Given the description of an element on the screen output the (x, y) to click on. 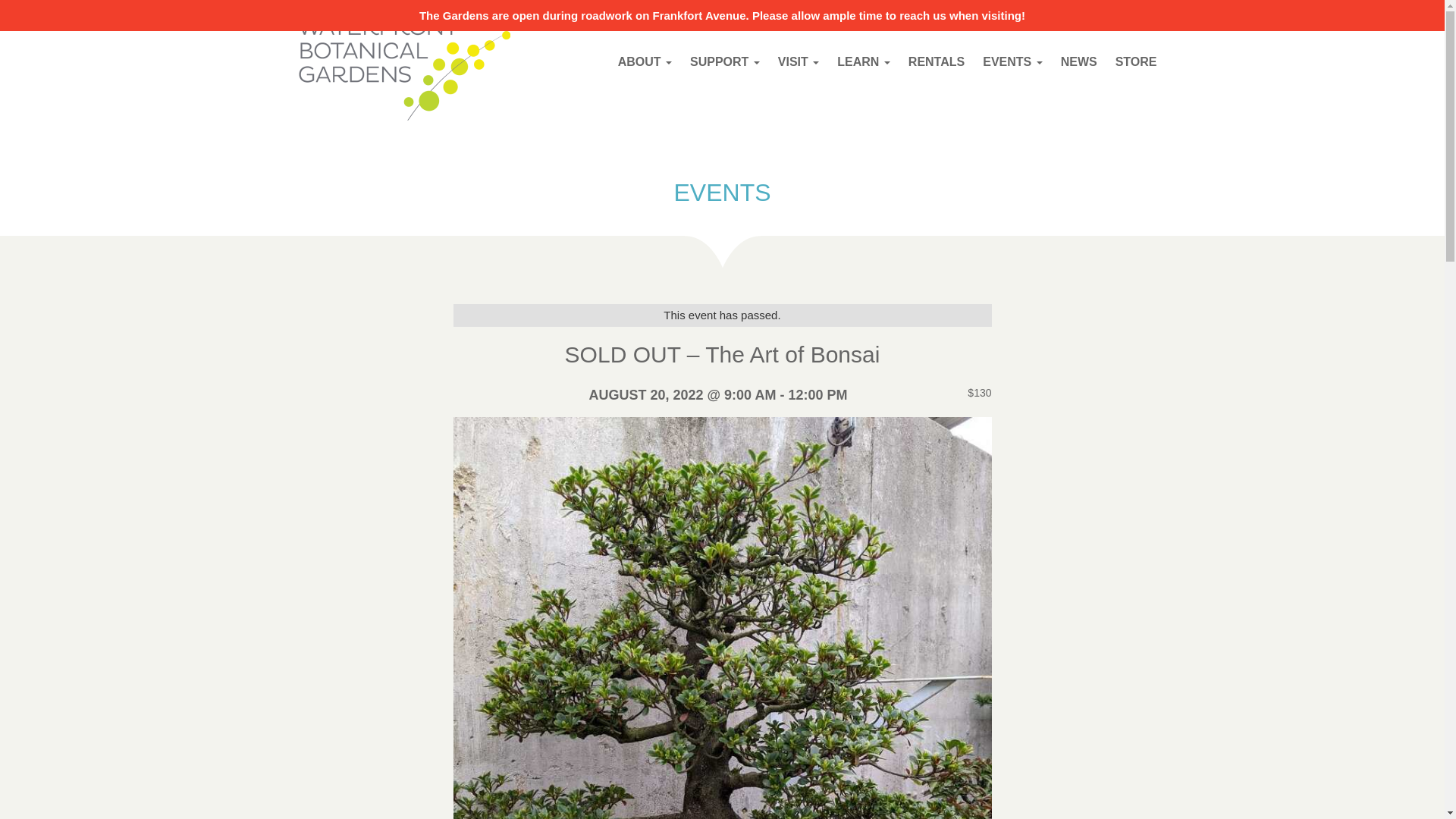
VISIT (798, 61)
SUPPORT (724, 61)
About (644, 61)
Support (724, 61)
Visit (798, 61)
EVENTS (1012, 61)
STORE (1136, 61)
LEARN (863, 61)
LEARN (863, 61)
NEWS (1078, 61)
